Given the description of an element on the screen output the (x, y) to click on. 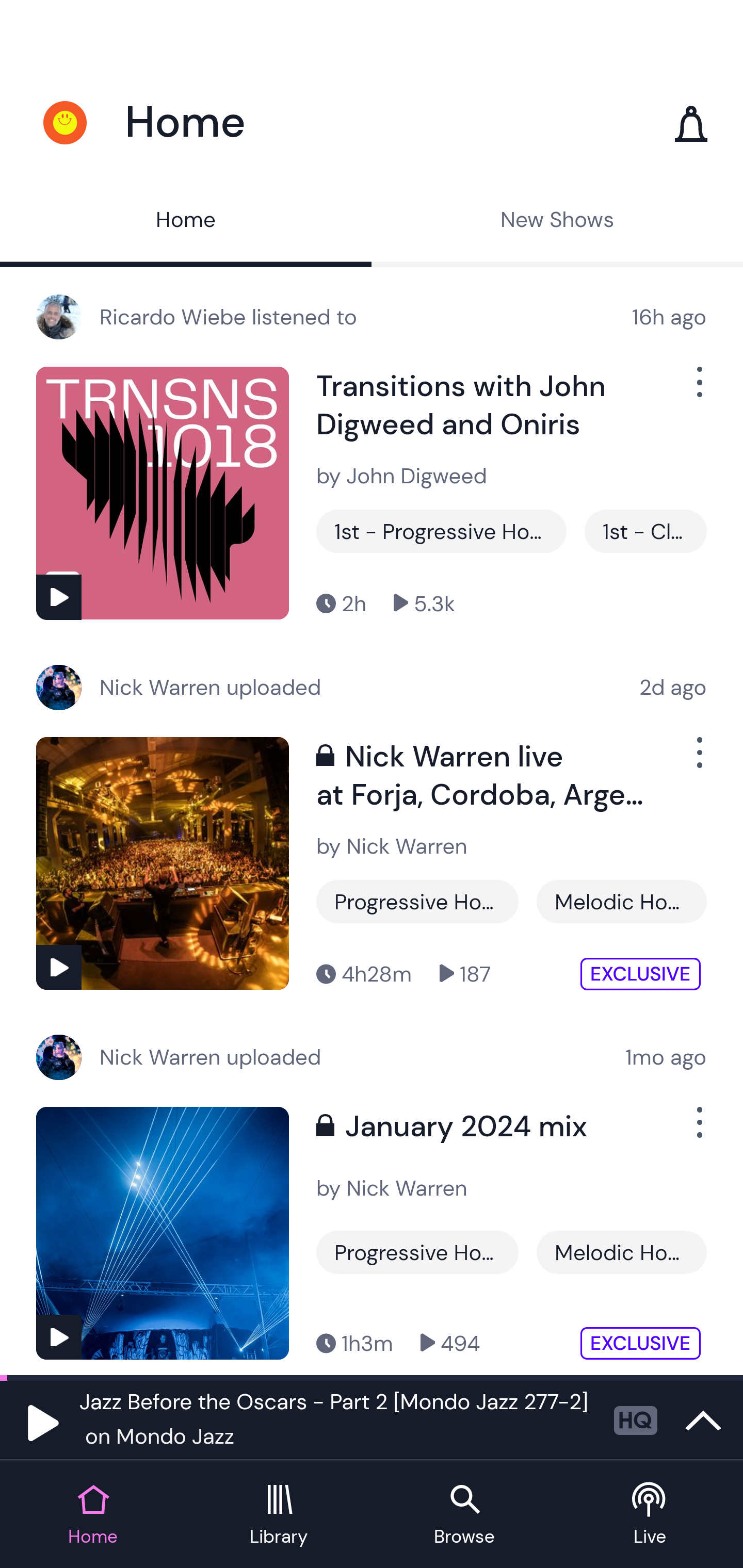
Home (185, 221)
New Shows (557, 221)
Show Options Menu Button (697, 389)
1st - Progressive House (441, 531)
1st - Club (645, 531)
Show Options Menu Button (697, 760)
Progressive House (417, 901)
Melodic House (621, 901)
Show Options Menu Button (697, 1130)
Progressive House (417, 1251)
Melodic House (621, 1251)
Home tab Home (92, 1515)
Library tab Library (278, 1515)
Browse tab Browse (464, 1515)
Live tab Live (650, 1515)
